Given the description of an element on the screen output the (x, y) to click on. 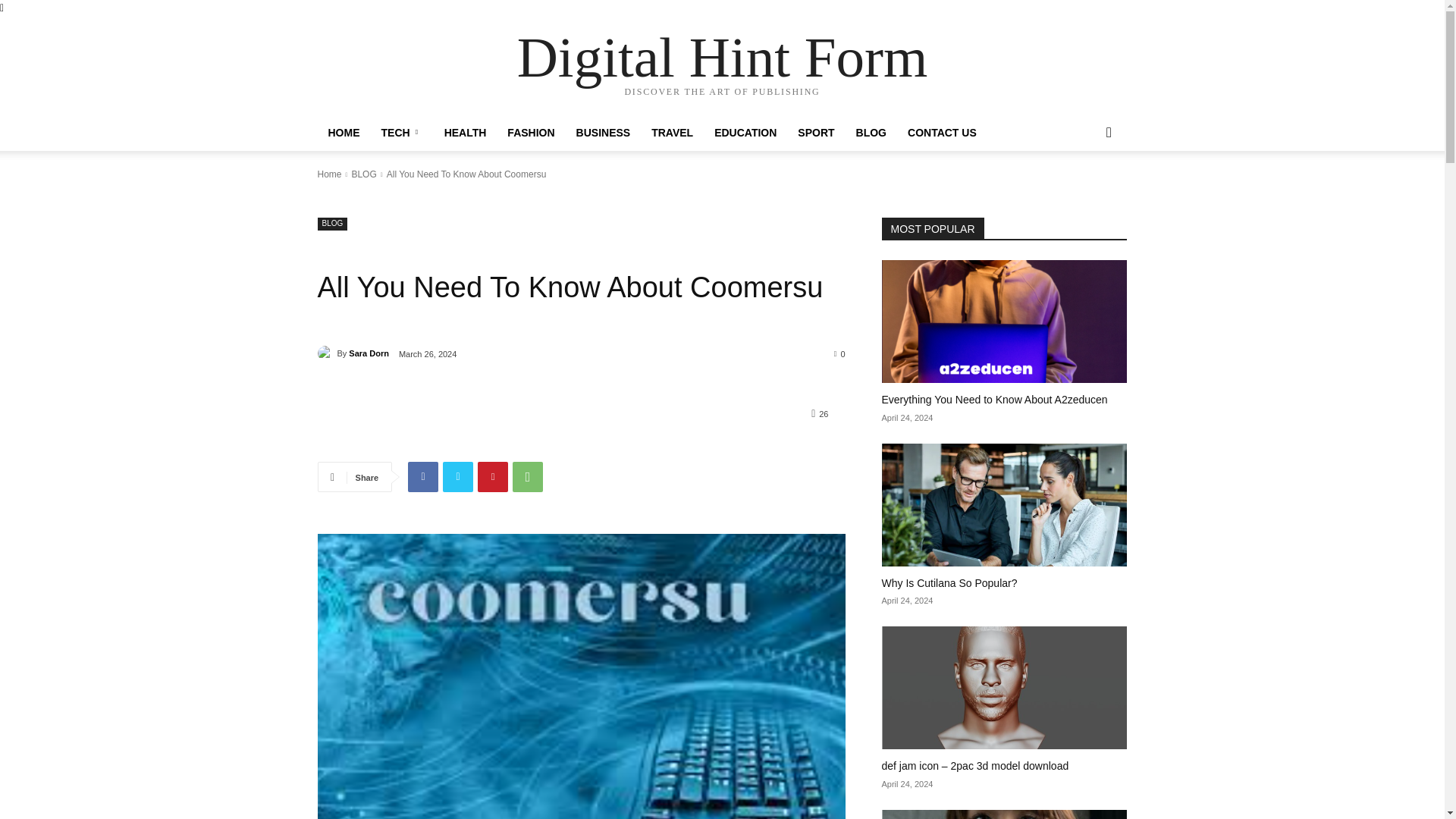
SPORT (815, 132)
EDUCATION (745, 132)
Facebook (422, 476)
Twitter (457, 476)
TRAVEL (671, 132)
TECH (400, 132)
BLOG (362, 173)
BLOG (332, 223)
CONTACT US (941, 132)
View all posts in BLOG (362, 173)
0 (839, 352)
FASHION (530, 132)
BLOG (870, 132)
Sara Dorn (368, 353)
